Given the description of an element on the screen output the (x, y) to click on. 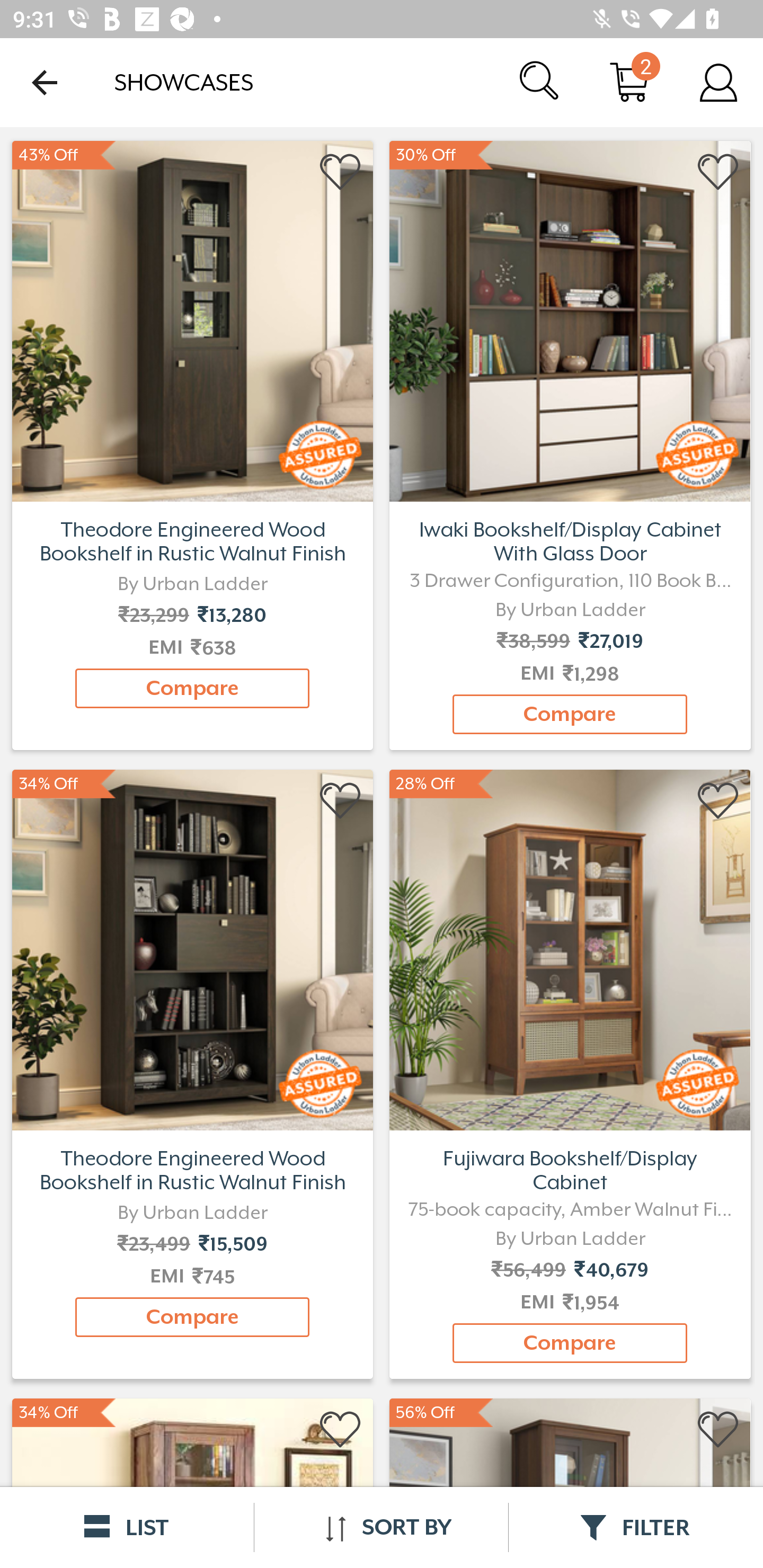
Navigate up (44, 82)
Search (540, 81)
Cart (629, 81)
Account Details (718, 81)
 (341, 172)
 (718, 172)
Compare (192, 687)
Compare (569, 713)
 (341, 800)
 (718, 800)
Compare (192, 1316)
Compare (569, 1342)
 (341, 1429)
 (718, 1429)
 LIST (127, 1527)
SORT BY (381, 1527)
 FILTER (635, 1527)
